Given the description of an element on the screen output the (x, y) to click on. 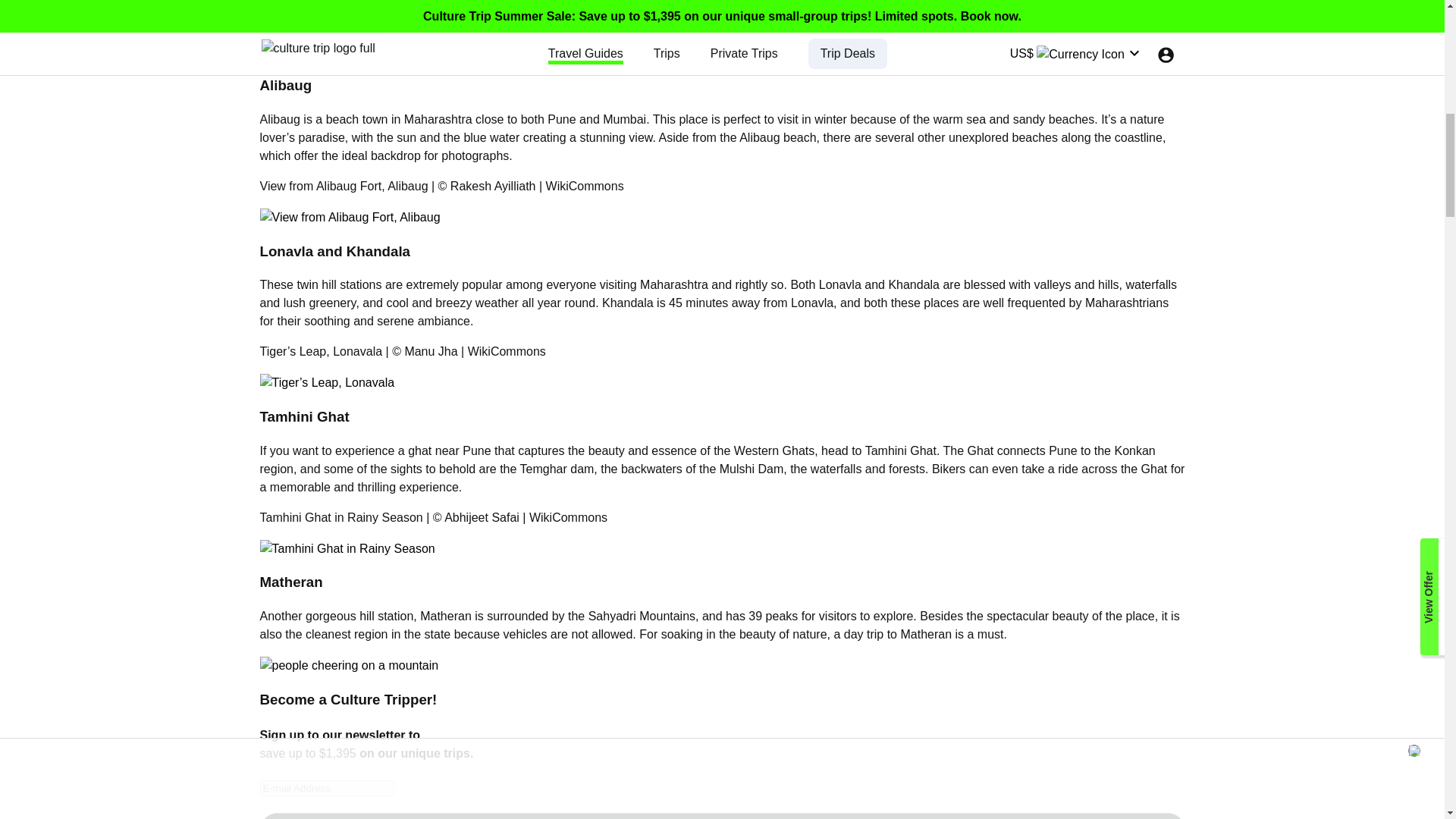
Konkan (1133, 450)
Matheran (447, 615)
Mumbai (624, 119)
Maharashtra (675, 284)
